Given the description of an element on the screen output the (x, y) to click on. 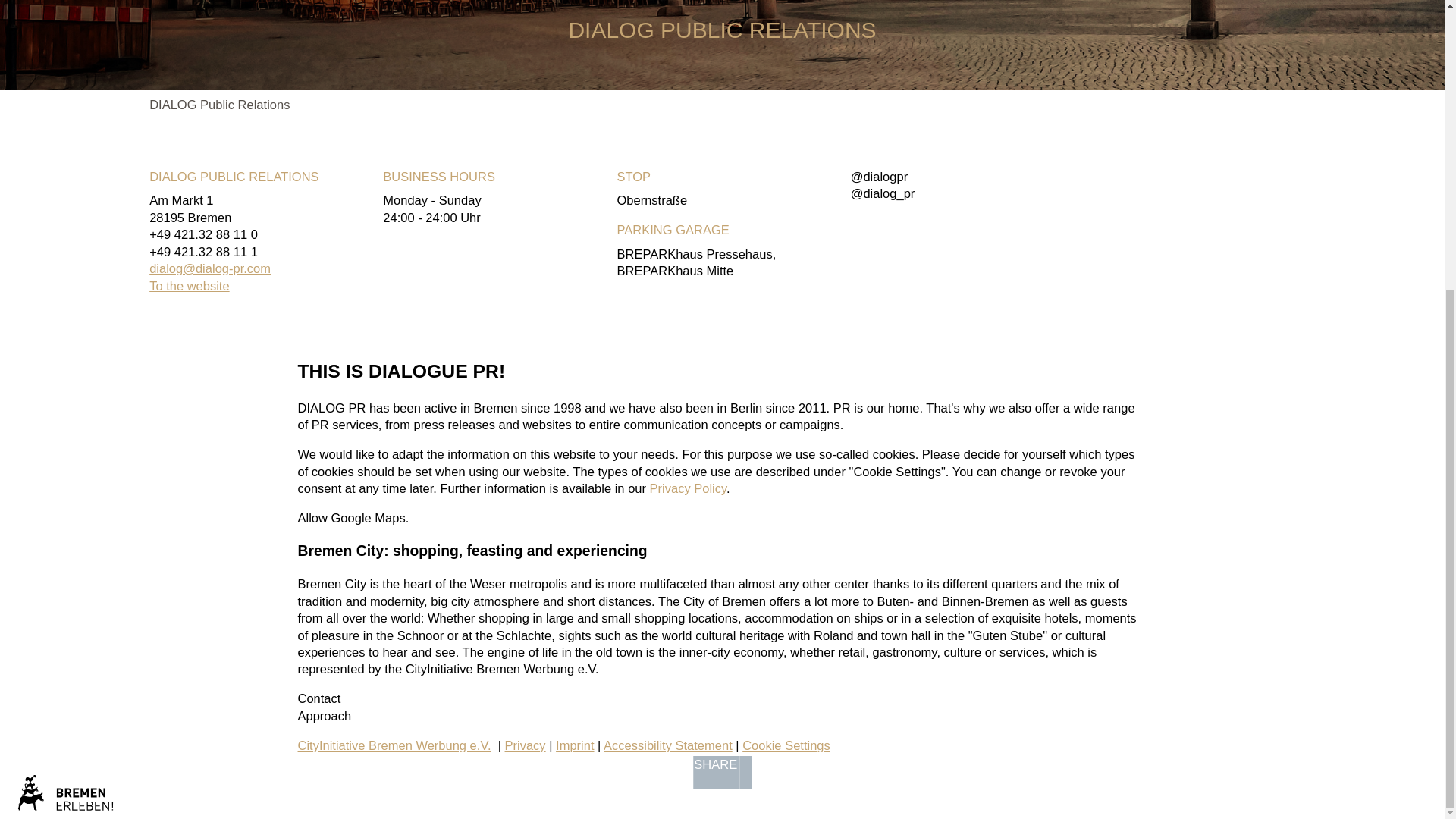
Privacy Policy (687, 488)
Imprint (575, 745)
Accessibility Statement (668, 745)
Privacy (525, 745)
CityInitiative Bremen Werbung e.V. (393, 745)
DIALOG Public Relations (219, 104)
